Given the description of an element on the screen output the (x, y) to click on. 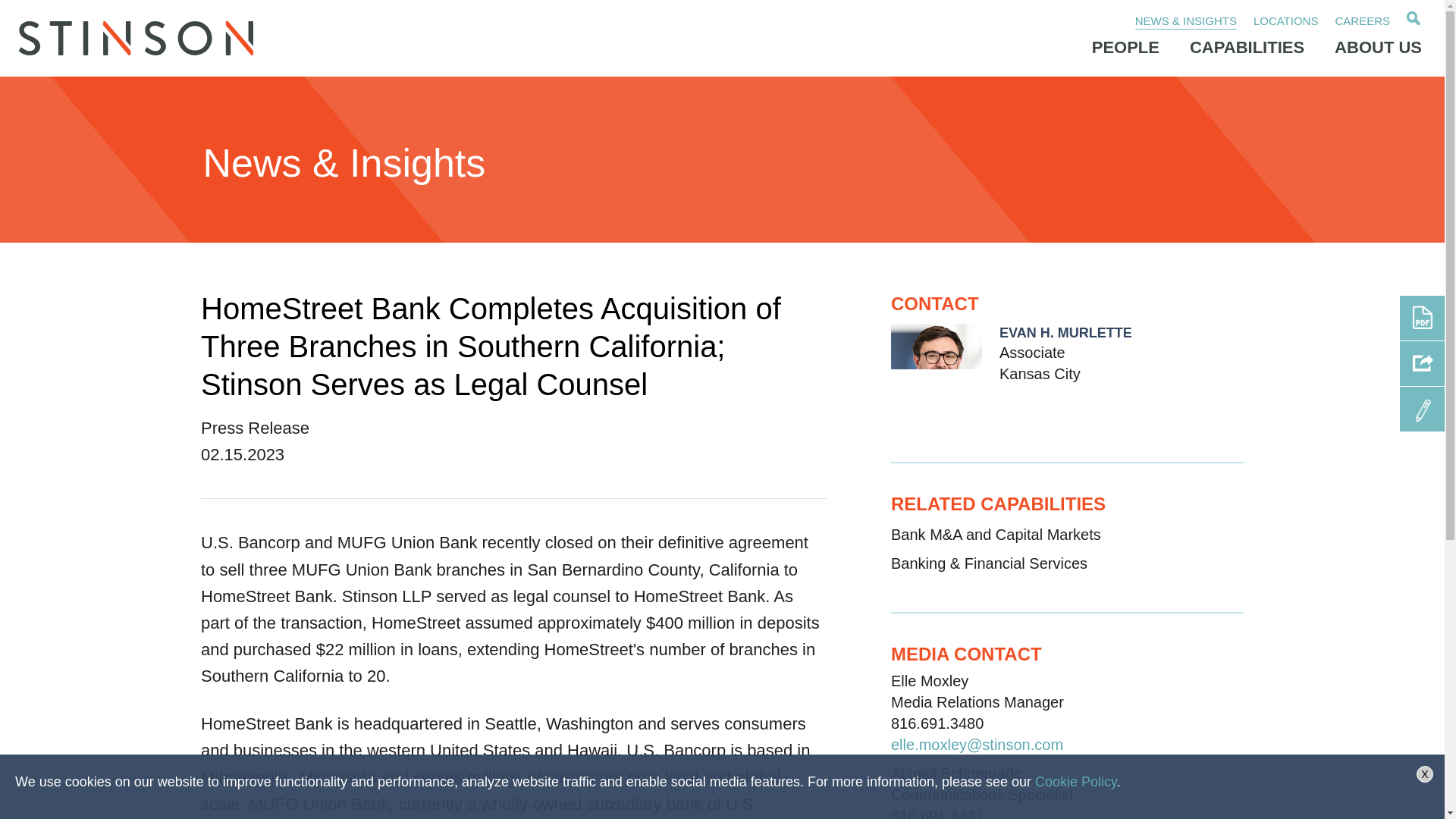
CAPABILITIES (1246, 47)
ABOUT US (1378, 47)
Kansas City (1039, 373)
PEOPLE (1125, 47)
Cookie Policy (1075, 780)
Print PDF (1421, 317)
EVAN H. MURLETTE (1065, 332)
Share (1421, 363)
